Given the description of an element on the screen output the (x, y) to click on. 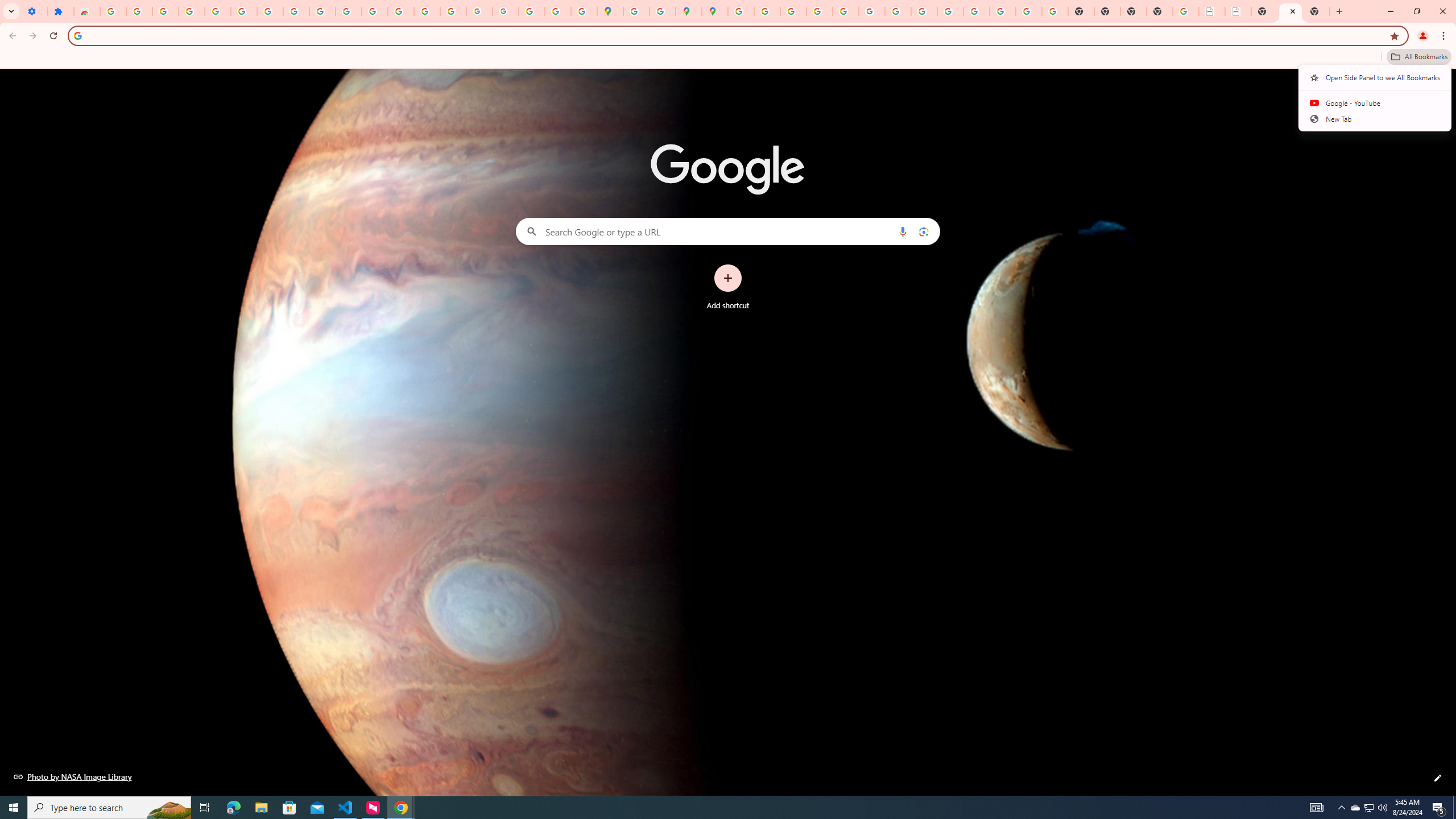
Open Side Panel to see All Bookmarks (1374, 77)
Google Images (1054, 11)
Bookmarks (728, 58)
BAE Systems Brasil | BAE Systems (1238, 11)
Sign in - Google Accounts (740, 11)
New Tab (1316, 11)
Privacy Help Center - Policies Help (792, 11)
